Given the description of an element on the screen output the (x, y) to click on. 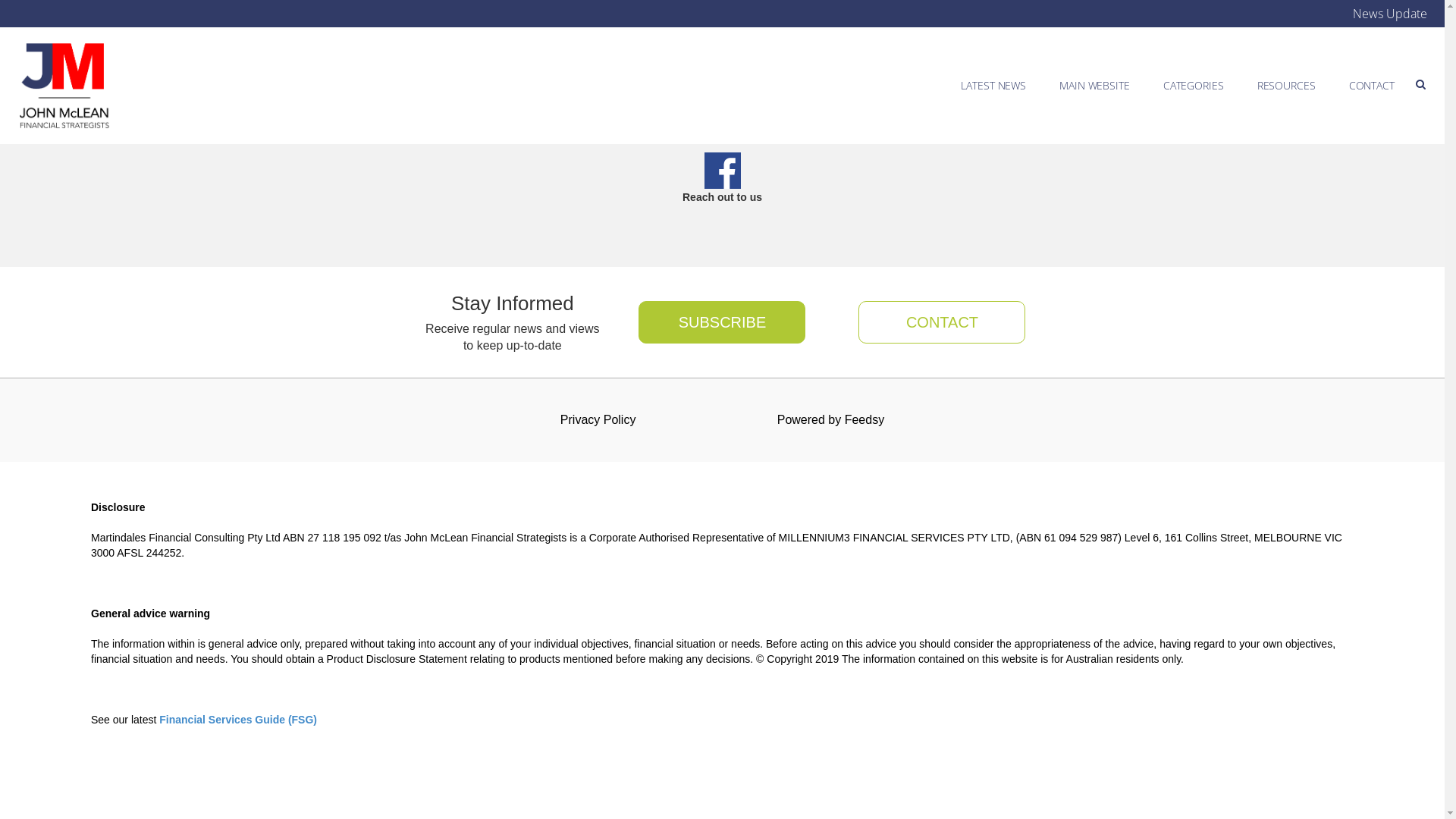
CATEGORIES Element type: text (1193, 85)
Privacy Policy Element type: text (598, 419)
RESOURCES Element type: text (1286, 85)
CONTACT Element type: text (1371, 85)
Financial Services Guide (FSG) Element type: text (237, 719)
CONTACT Element type: text (932, 322)
John McLean Financial Strategists Element type: hover (63, 85)
MAIN WEBSITE Element type: text (1094, 85)
SUBSCRIBE Element type: text (721, 322)
Skip to content Element type: text (1393, 72)
LATEST NEWS Element type: text (993, 85)
